Given the description of an element on the screen output the (x, y) to click on. 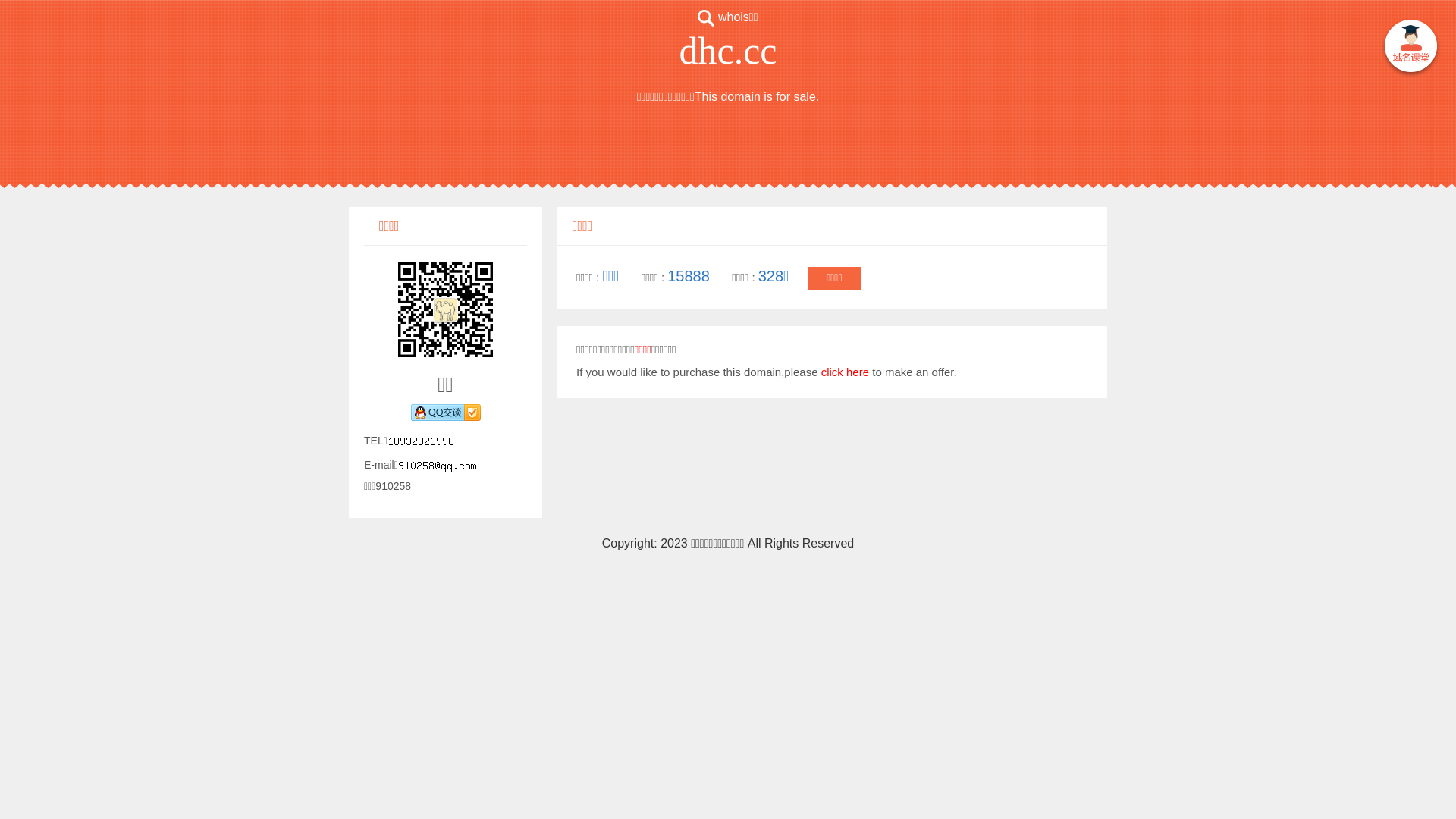
  Element type: text (1410, 48)
click here Element type: text (845, 371)
